Given the description of an element on the screen output the (x, y) to click on. 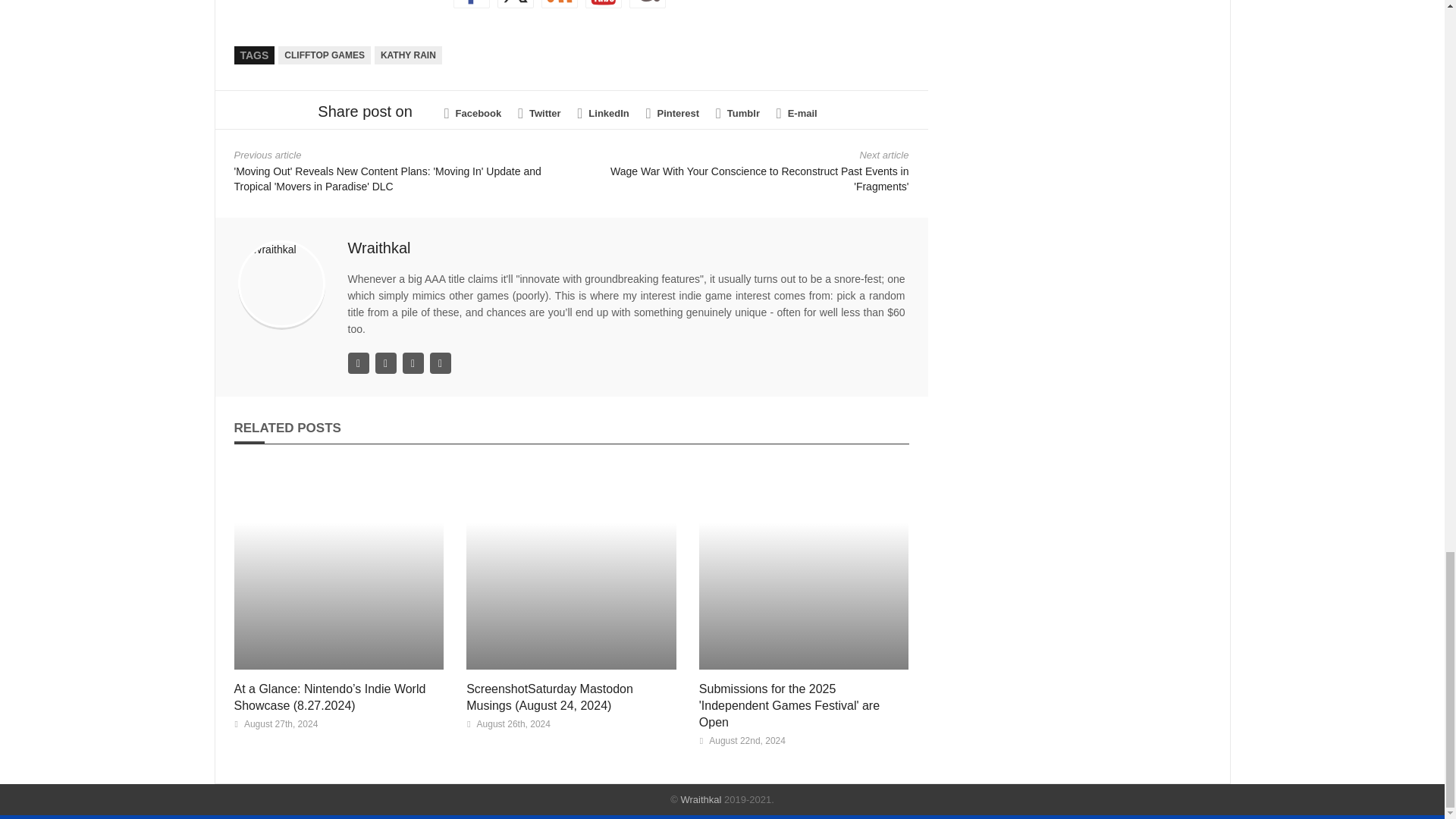
E-mail (796, 113)
Wraithkal: The Indie Gaming Corner on Tumblr (646, 4)
Wraithkal (378, 247)
Wraithkal on YouTube (603, 4)
RSS (559, 4)
KATHY RAIN (408, 54)
Wraithkal on Twitter (515, 4)
Facebook (473, 113)
